Given the description of an element on the screen output the (x, y) to click on. 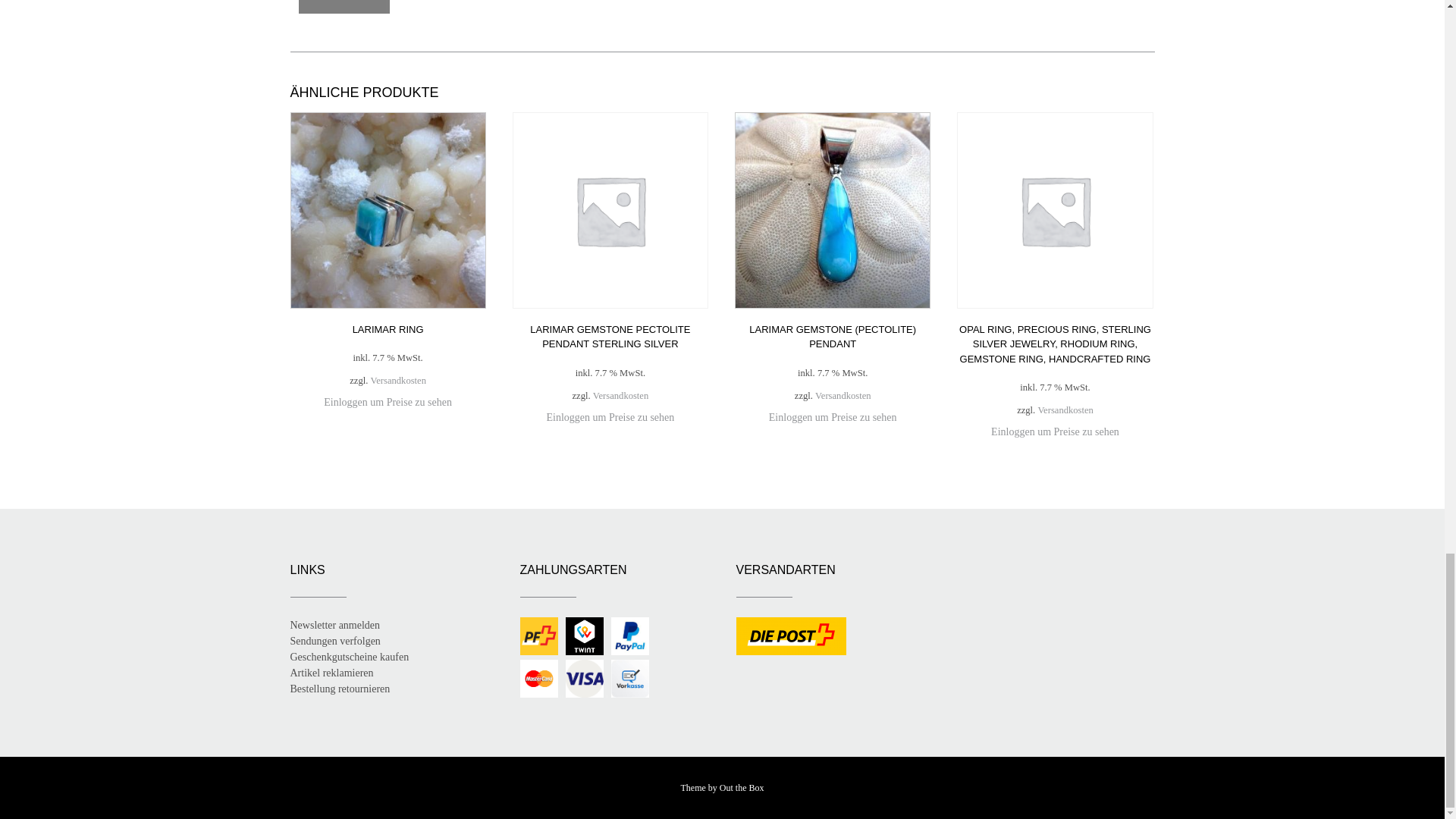
Einloggen um Preise zu sehen (611, 417)
Senden (344, 6)
Versandkosten (619, 396)
Senden (344, 6)
Versandkosten (398, 380)
Einloggen um Preise zu sehen (387, 401)
